Given the description of an element on the screen output the (x, y) to click on. 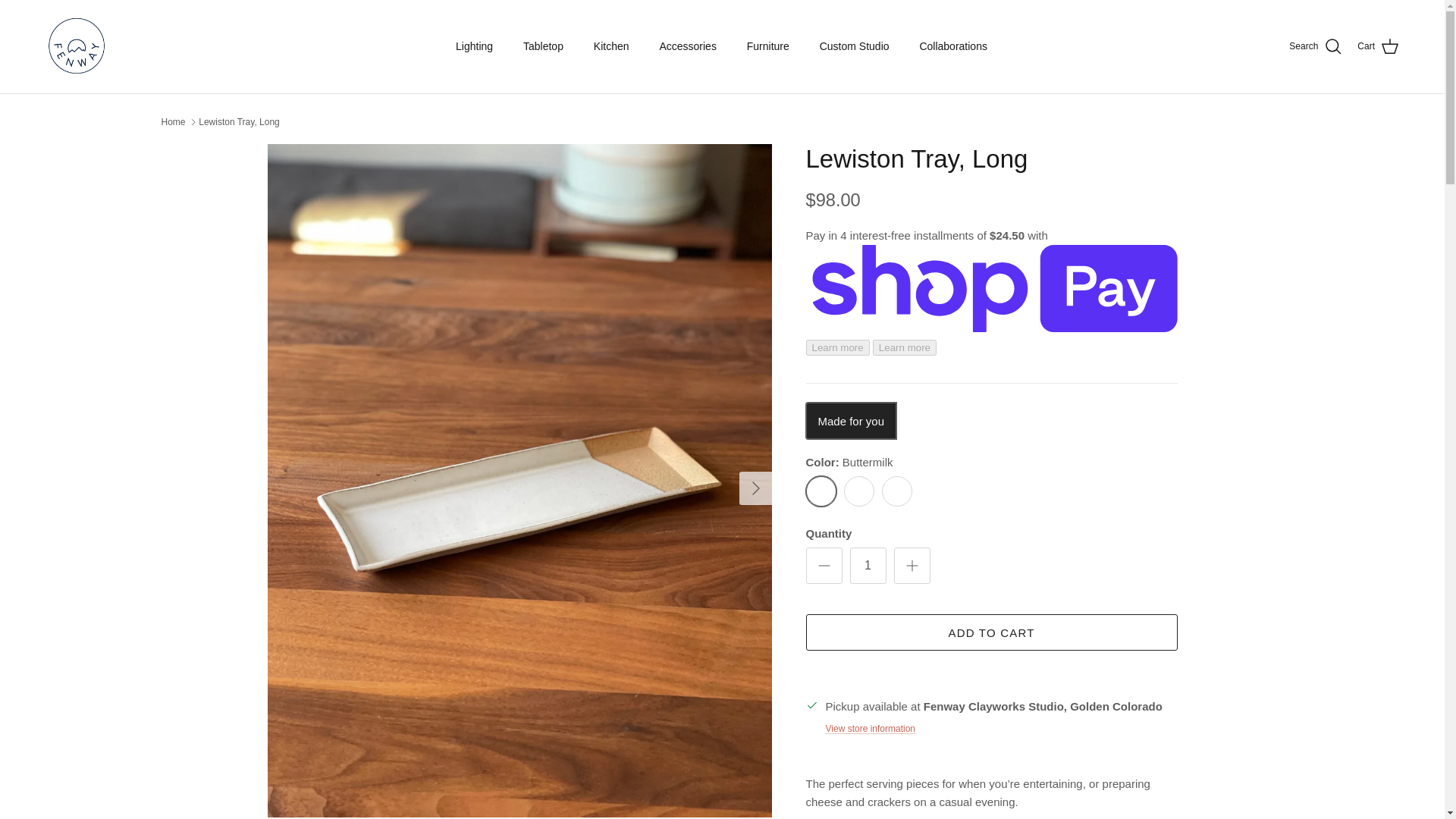
Furniture (768, 46)
Collaborations (953, 46)
1 (866, 565)
Accessories (687, 46)
Lighting (474, 46)
Kitchen (611, 46)
Search (1315, 46)
Cart (1377, 46)
Custom Studio (854, 46)
Tabletop (542, 46)
